Given the description of an element on the screen output the (x, y) to click on. 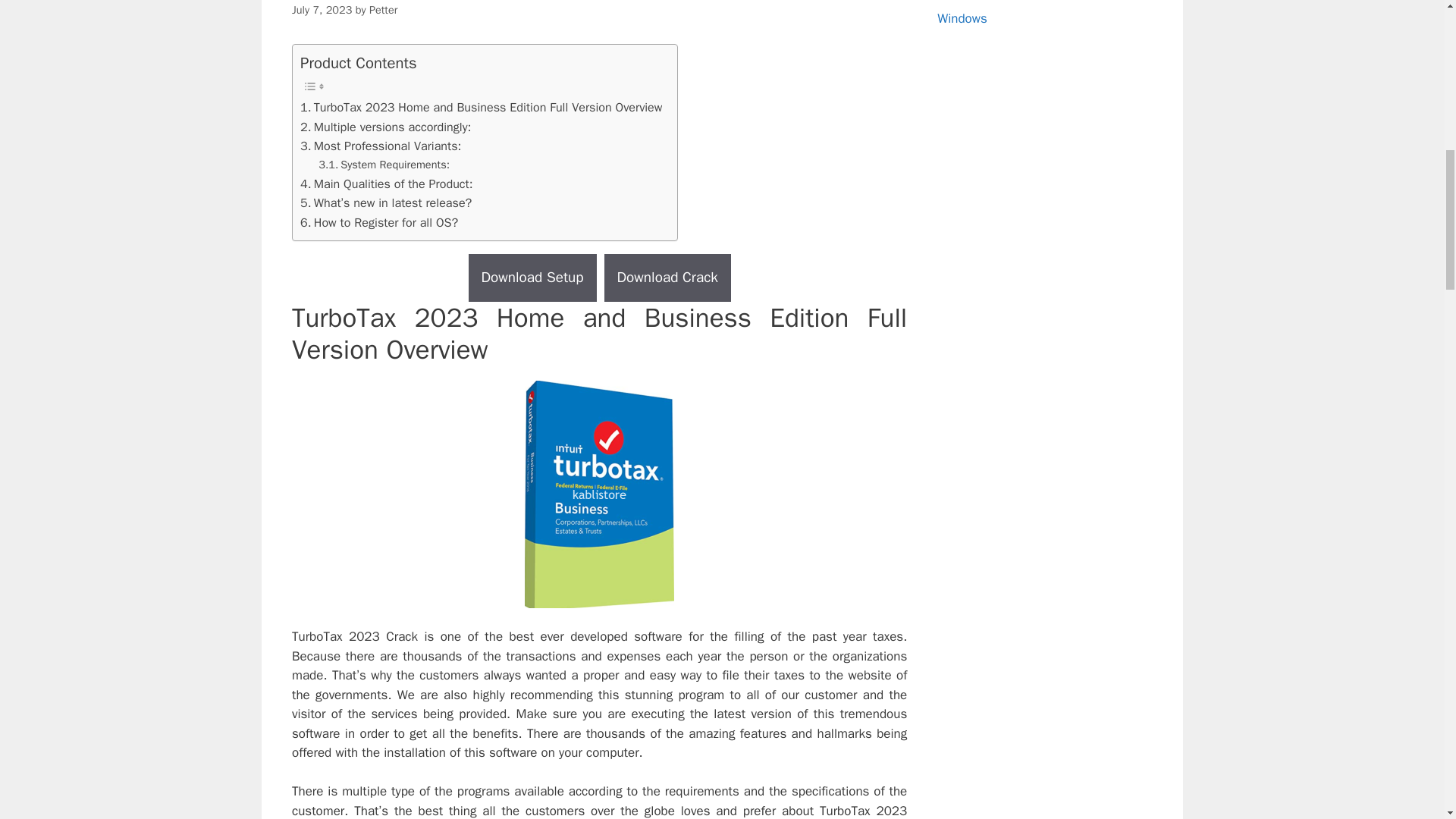
Most Professional Variants: (380, 146)
Download Crack (667, 277)
System Requirements: (383, 164)
How to Register for all OS? (378, 222)
Multiple versions accordingly: (384, 127)
How to Register for all OS? (378, 222)
Main Qualities of the Product: (386, 184)
Download Setup (532, 277)
Main Qualities of the Product: (386, 184)
System Requirements: (383, 164)
View all posts by Petter (383, 9)
Download SetupDownload Crack (599, 277)
Multiple versions accordingly: (384, 127)
Most Professional Variants: (380, 146)
